Given the description of an element on the screen output the (x, y) to click on. 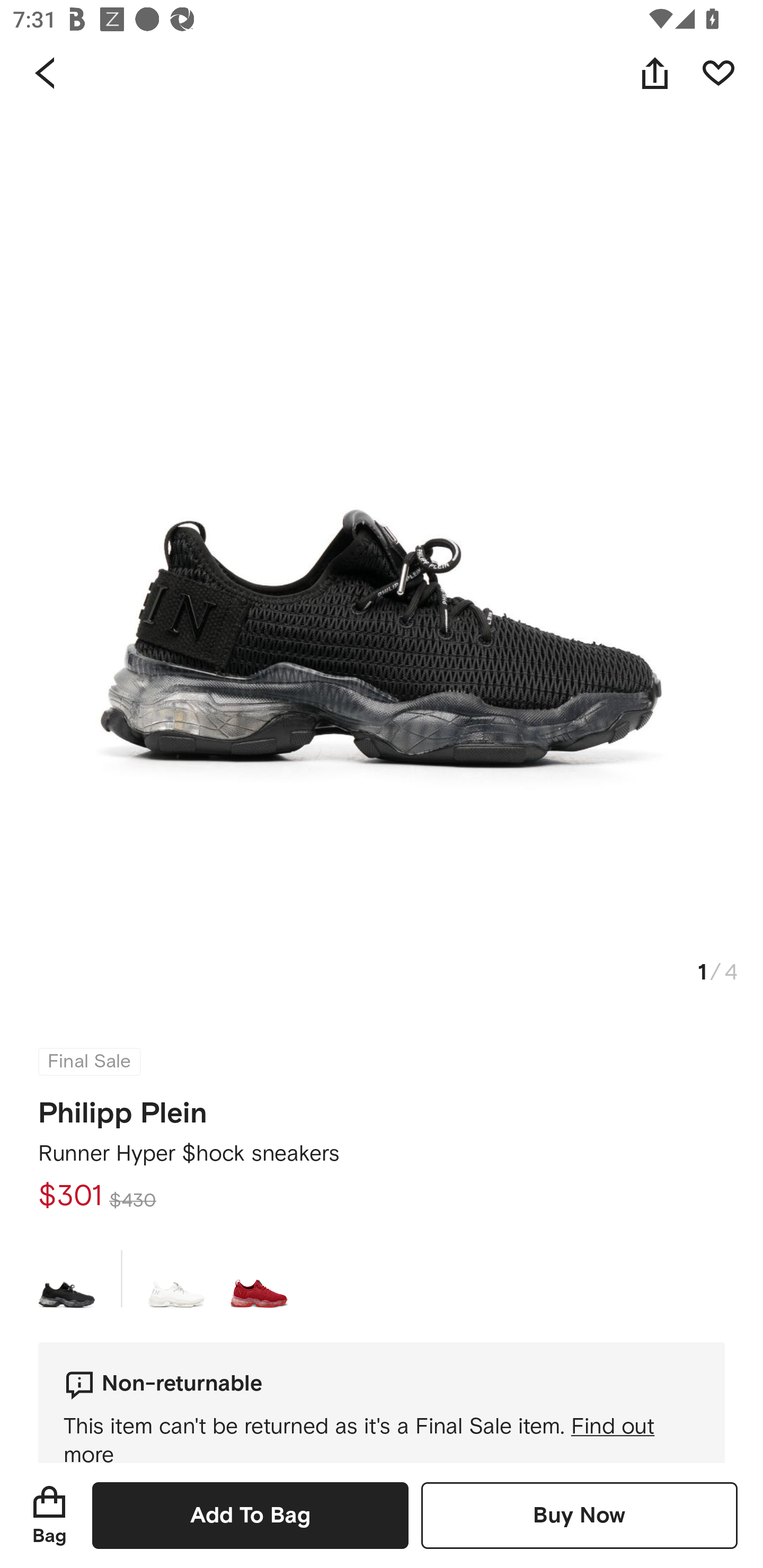
Philipp Plein (122, 1107)
Bag (49, 1515)
Add To Bag (250, 1515)
Buy Now (579, 1515)
